Given the description of an element on the screen output the (x, y) to click on. 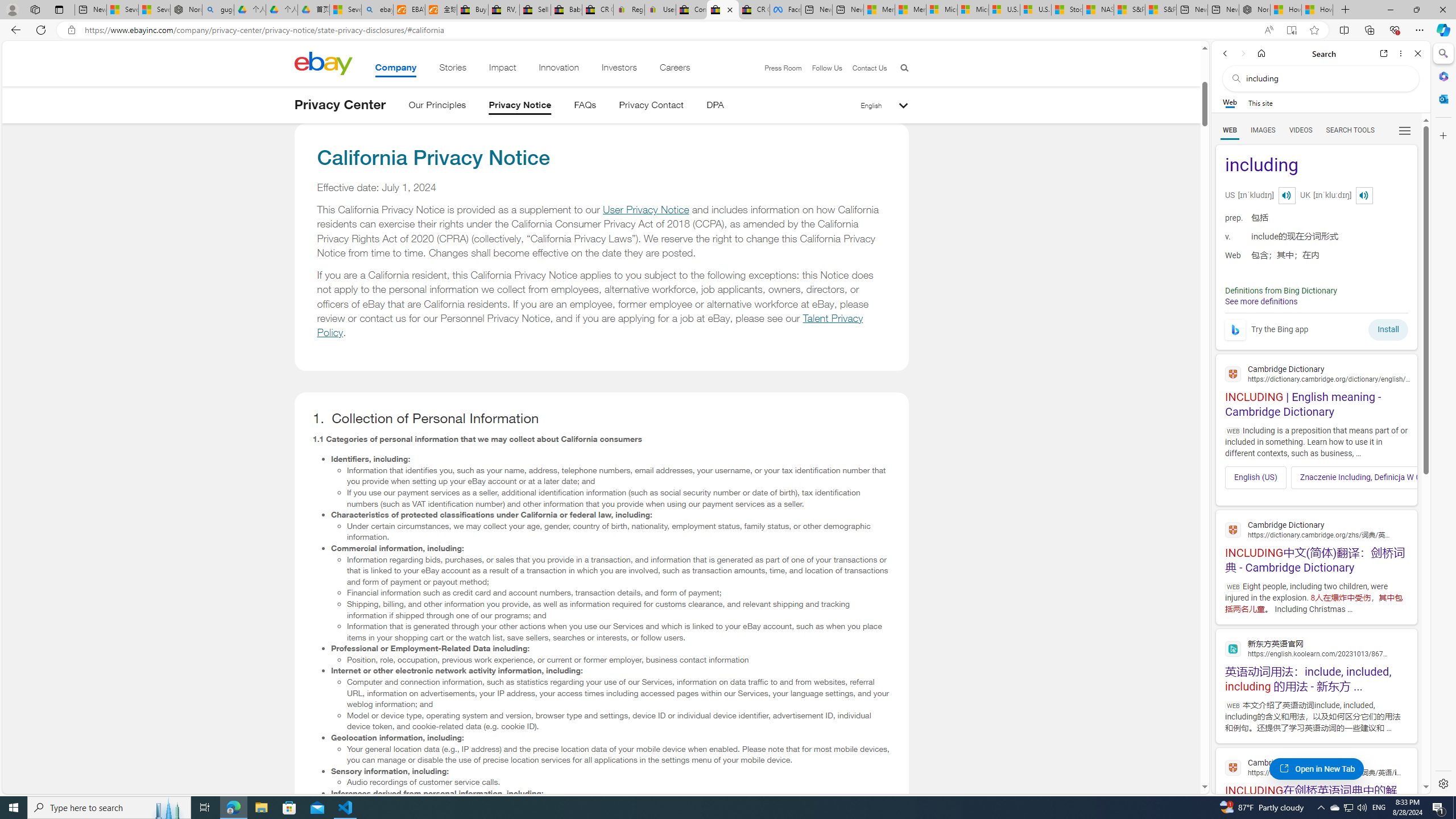
Try the Bing app Install (1315, 326)
Forward (1242, 53)
To get missing image descriptions, open the context menu. (1234, 329)
